Given the description of an element on the screen output the (x, y) to click on. 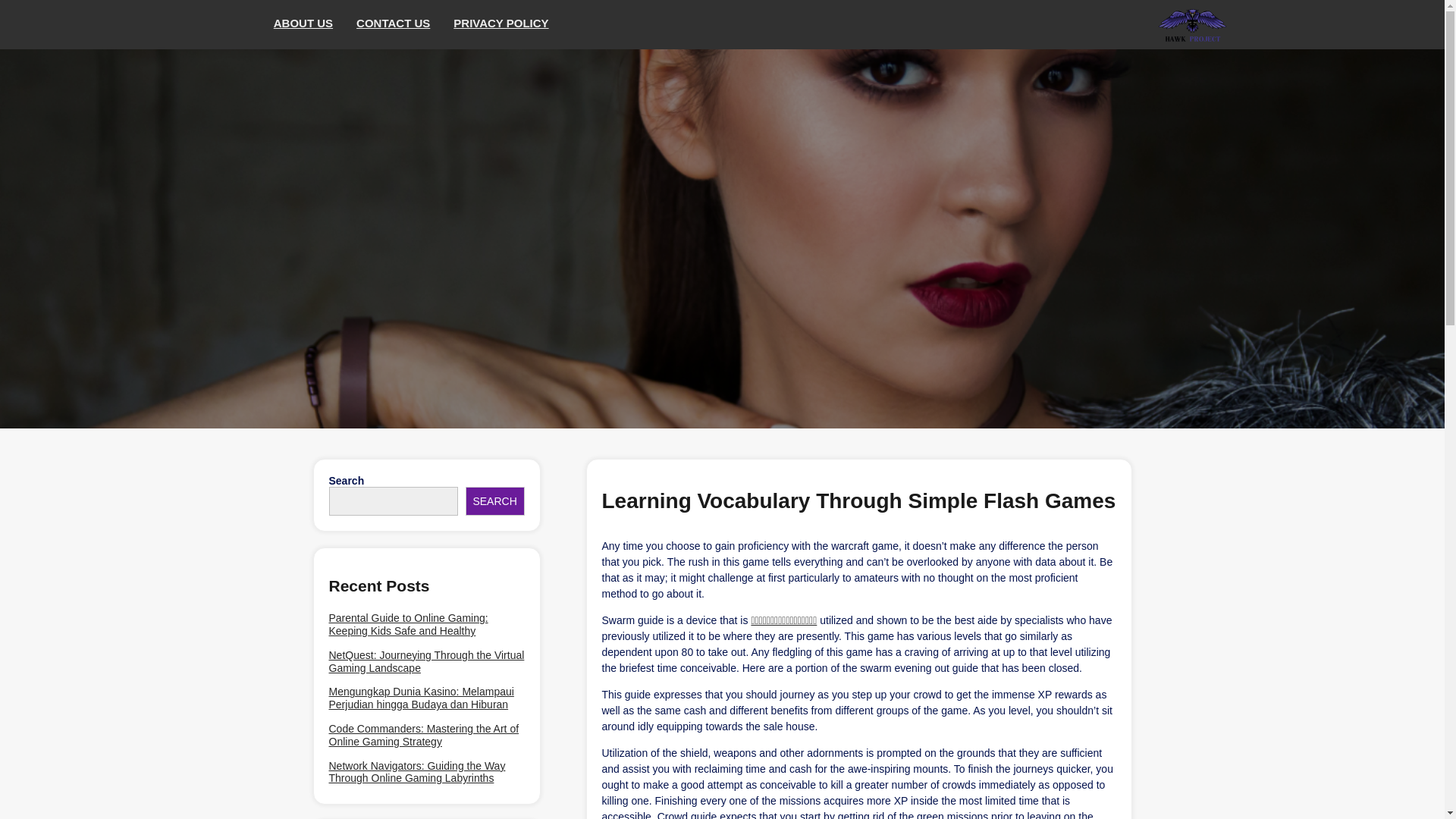
CONTACT US (393, 24)
Code Commanders: Mastering the Art of Online Gaming Strategy (426, 735)
NetQuest: Journeying Through the Virtual Gaming Landscape (426, 661)
PRIVACY POLICY (501, 24)
SEARCH (494, 500)
ABOUT US (303, 24)
